Given the description of an element on the screen output the (x, y) to click on. 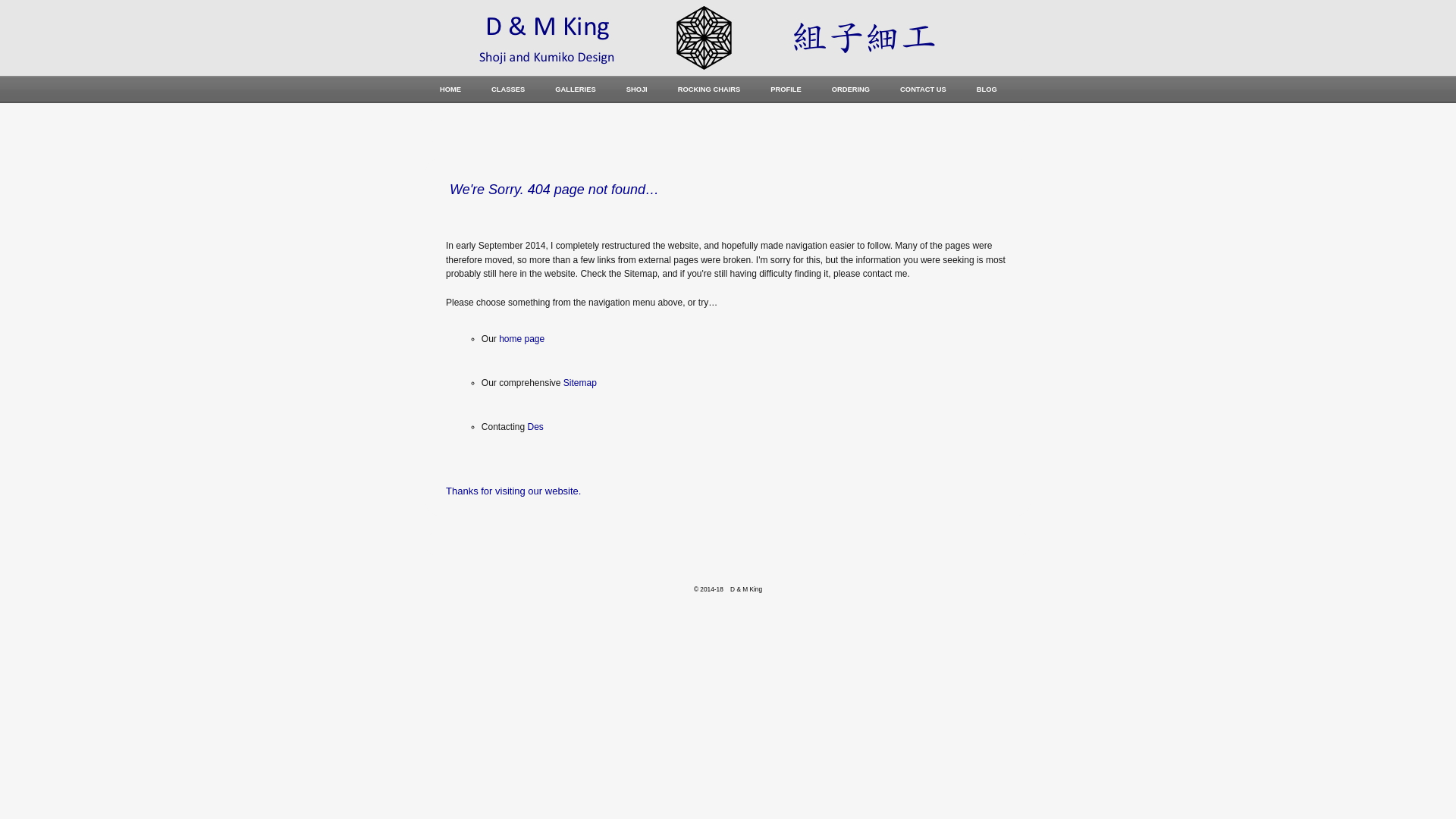
Sitemap Element type: text (579, 382)
PROFILE Element type: text (785, 89)
GALLERIES Element type: text (574, 89)
CLASSES Element type: text (507, 89)
ORDERING Element type: text (850, 89)
ROCKING CHAIRS Element type: text (709, 89)
BLOG Element type: text (986, 89)
HOME Element type: text (450, 89)
CONTACT US Element type: text (922, 89)
Des Element type: text (535, 426)
SHOJI Element type: text (636, 89)
home page Element type: text (521, 338)
